Given the description of an element on the screen output the (x, y) to click on. 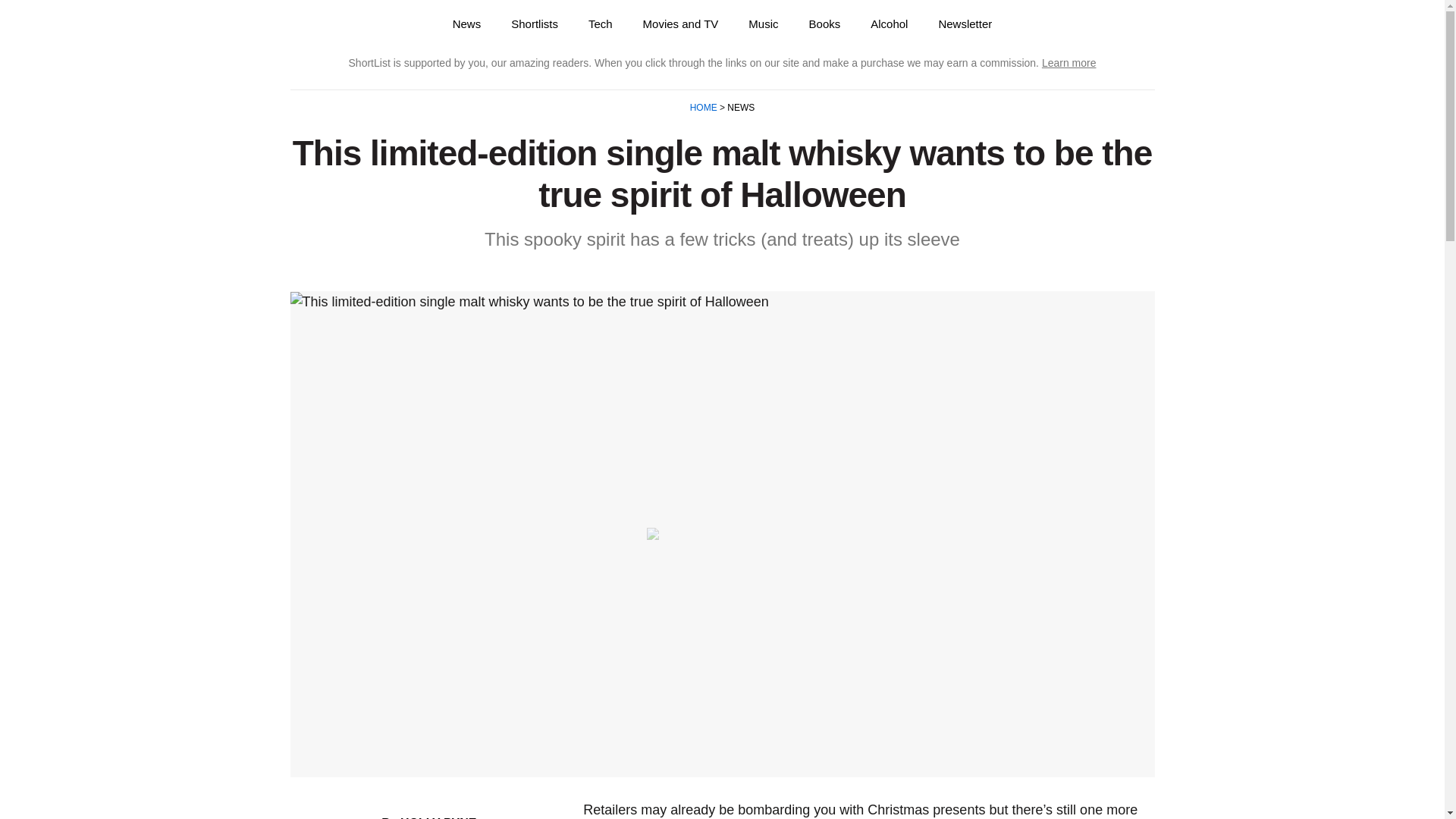
News (467, 23)
Learn more (1069, 62)
Books (824, 23)
NEWS (739, 107)
Alcohol (889, 23)
Shortlist (346, 24)
HOME (704, 107)
Newsletter (965, 23)
Music (763, 23)
Tech (600, 23)
Movies and TV (680, 23)
Shortlists (534, 23)
By HOLLY PYNE (428, 817)
